Given the description of an element on the screen output the (x, y) to click on. 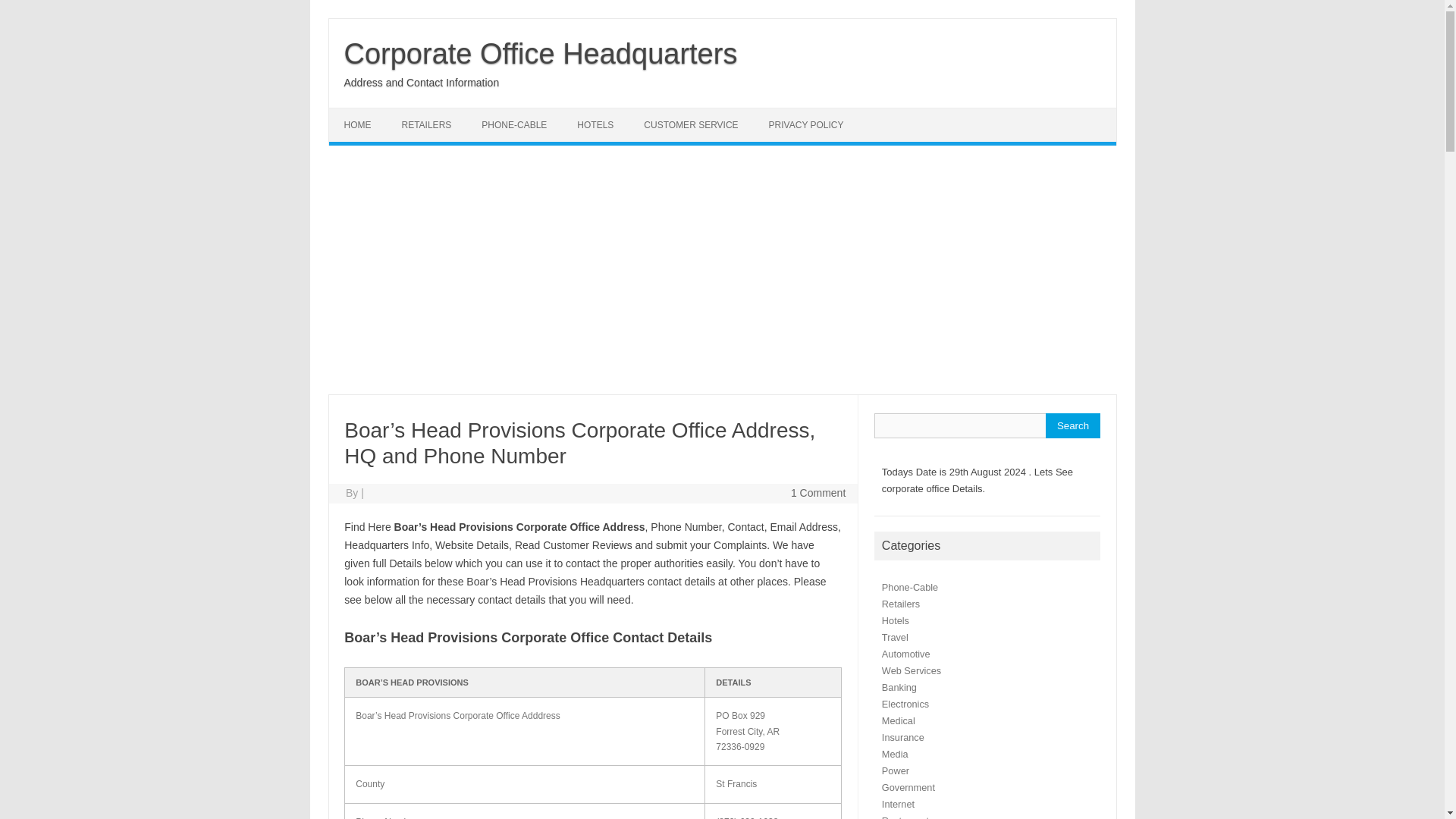
Web Services (911, 670)
Medical (898, 720)
RETAILERS (427, 124)
Government (908, 787)
Power (895, 770)
Address and Contact Information (421, 82)
Corporate Office Headquarters (540, 53)
Electronics (905, 704)
